Given the description of an element on the screen output the (x, y) to click on. 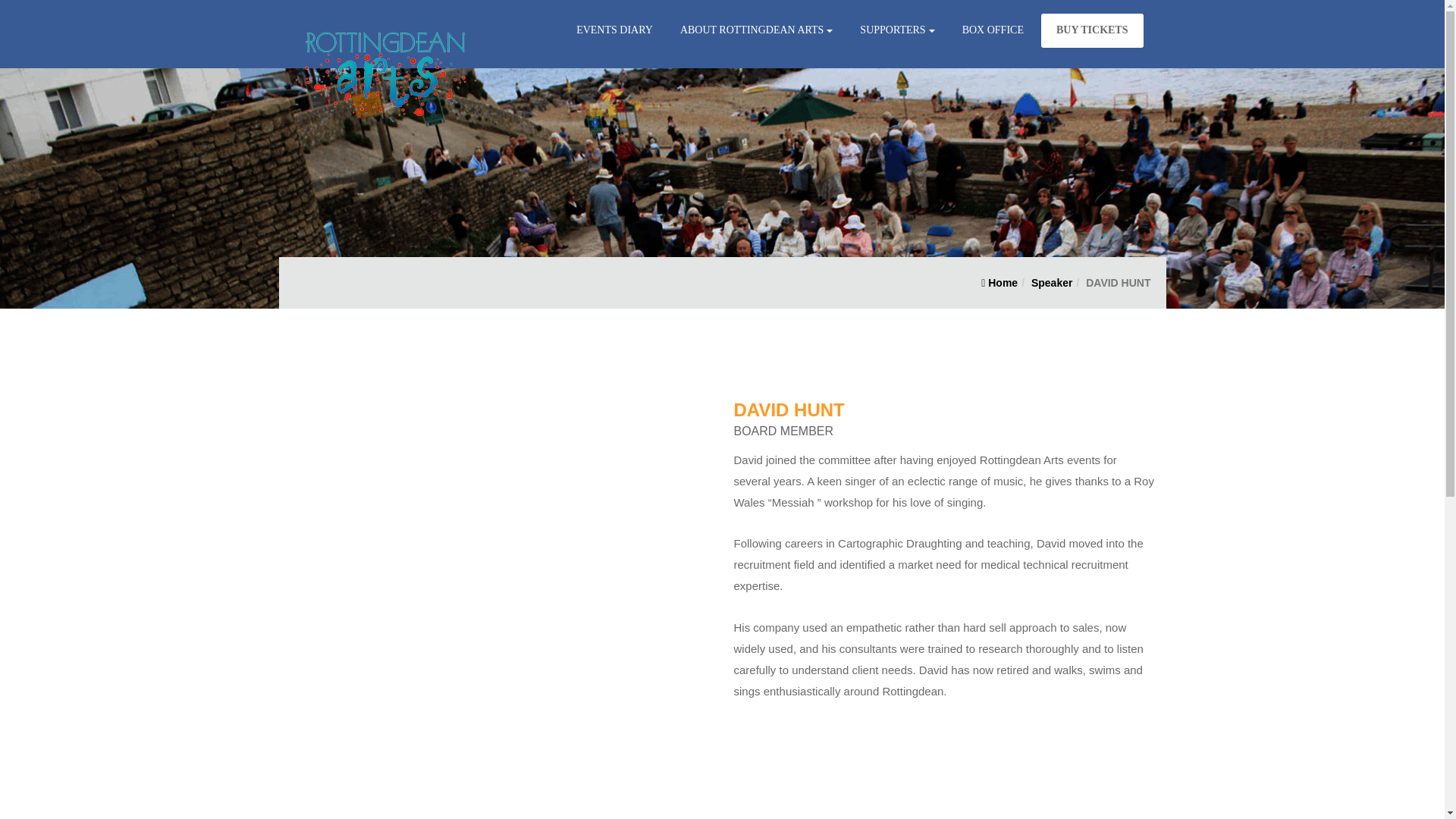
ABOUT ROTTINGDEAN ARTS (755, 30)
Home (999, 282)
BOX OFFICE (992, 30)
EVENTS DIARY (614, 30)
BUY TICKETS (1091, 30)
Speaker (1050, 282)
SUPPORTERS (896, 30)
Home (999, 282)
Speaker (1050, 282)
